Given the description of an element on the screen output the (x, y) to click on. 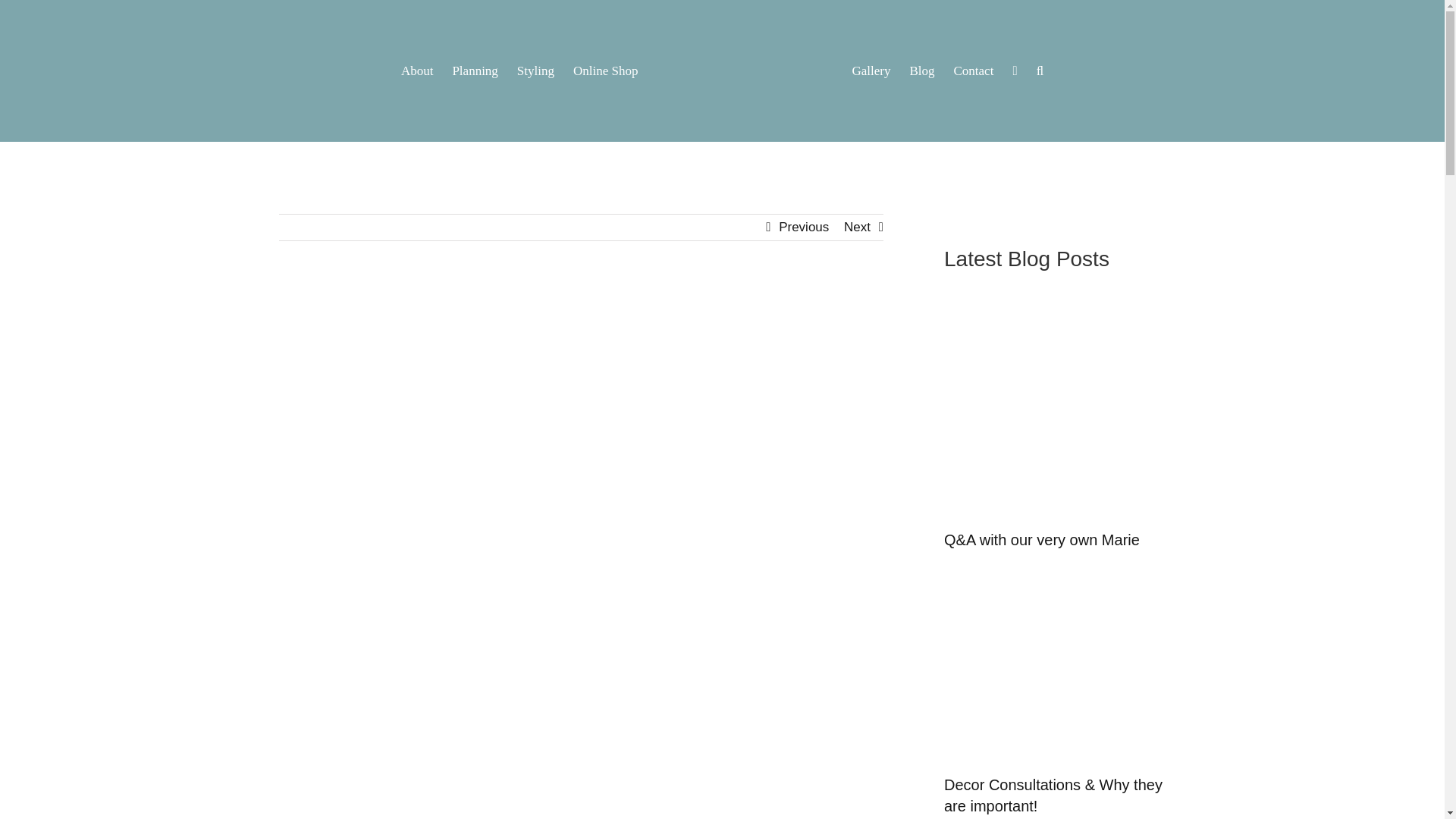
Previous (803, 227)
Next (857, 227)
